Given the description of an element on the screen output the (x, y) to click on. 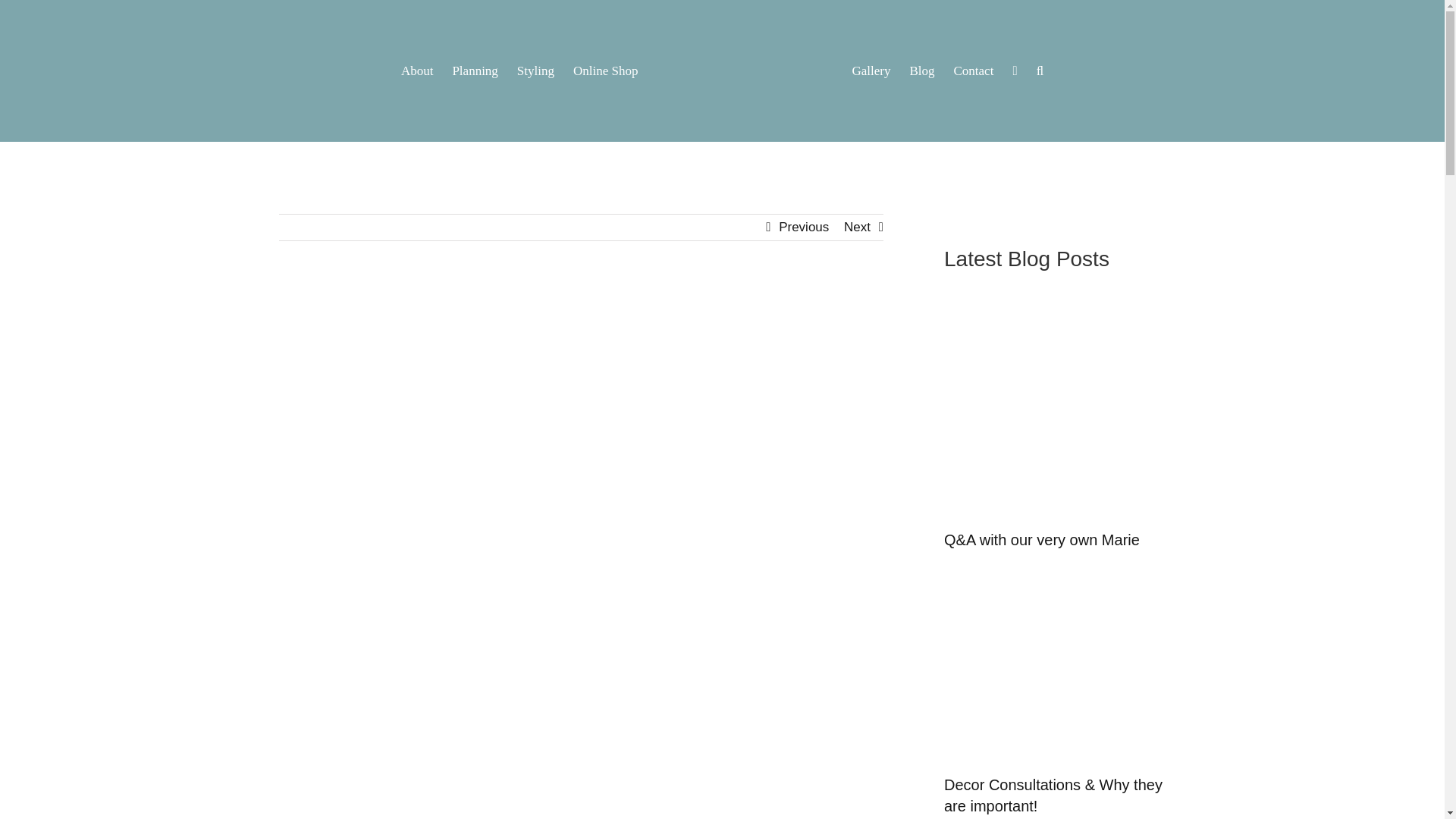
Previous (803, 227)
Next (857, 227)
